Given the description of an element on the screen output the (x, y) to click on. 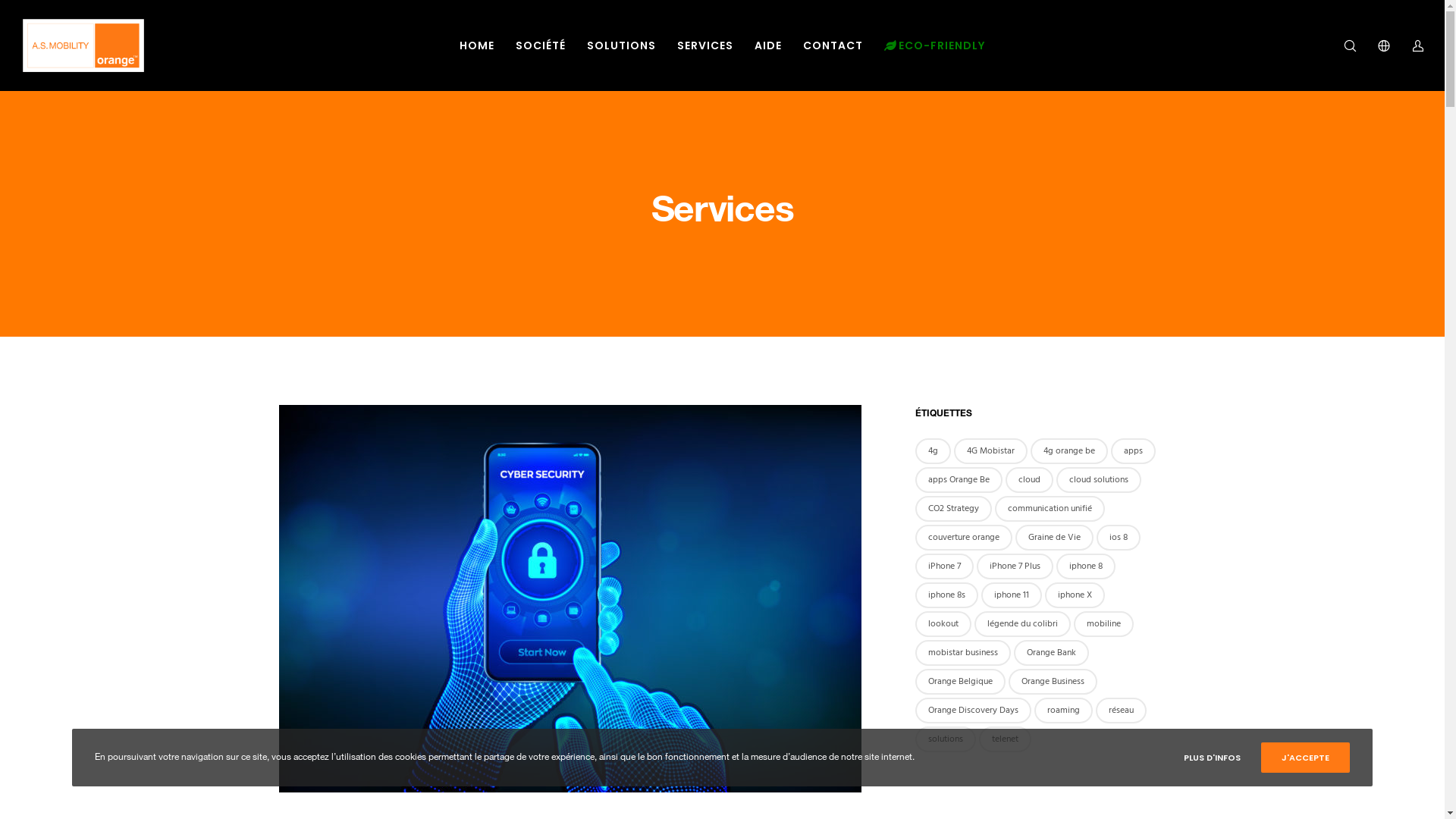
ios 8 Element type: text (1118, 537)
HOME Element type: text (476, 45)
SOLUTIONS Element type: text (621, 45)
4g Element type: text (932, 451)
iphone 11 Element type: text (1011, 595)
mobiline Element type: text (1103, 624)
Orange Belgique Element type: text (959, 681)
CO2 Strategy Element type: text (952, 508)
iPhone 7 Plus Element type: text (1014, 566)
Orange Bank Element type: text (1050, 652)
telenet Element type: text (1004, 739)
cloud Element type: text (1029, 479)
iphone 8 Element type: text (1084, 566)
roaming Element type: text (1063, 710)
apps Orange Be Element type: text (957, 479)
info@asmobility.be Element type: text (803, 625)
4G Mobistar Element type: text (990, 451)
ECO-FRIENDLY Element type: text (934, 45)
www.asmobility.be Element type: text (804, 661)
AIDE Element type: text (767, 45)
solutions Element type: text (944, 739)
iphone 8s Element type: text (945, 595)
lookout Element type: text (942, 624)
mobistar business Element type: text (962, 652)
couverture orange Element type: text (962, 537)
4g orange be Element type: text (1068, 451)
cloud solutions Element type: text (1097, 479)
Nederlands Element type: text (1135, 784)
Graine de Vie Element type: text (1053, 537)
J'ACCEPTE Element type: text (1305, 757)
iPhone 7 Element type: text (943, 566)
Orange Discovery Days Element type: text (972, 710)
PLUS D'INFOS Element type: text (1211, 757)
iphone X Element type: text (1074, 595)
apps Element type: text (1132, 451)
CONTACT Element type: text (832, 45)
Orange Business Element type: text (1052, 681)
SERVICES Element type: text (704, 45)
